Given the description of an element on the screen output the (x, y) to click on. 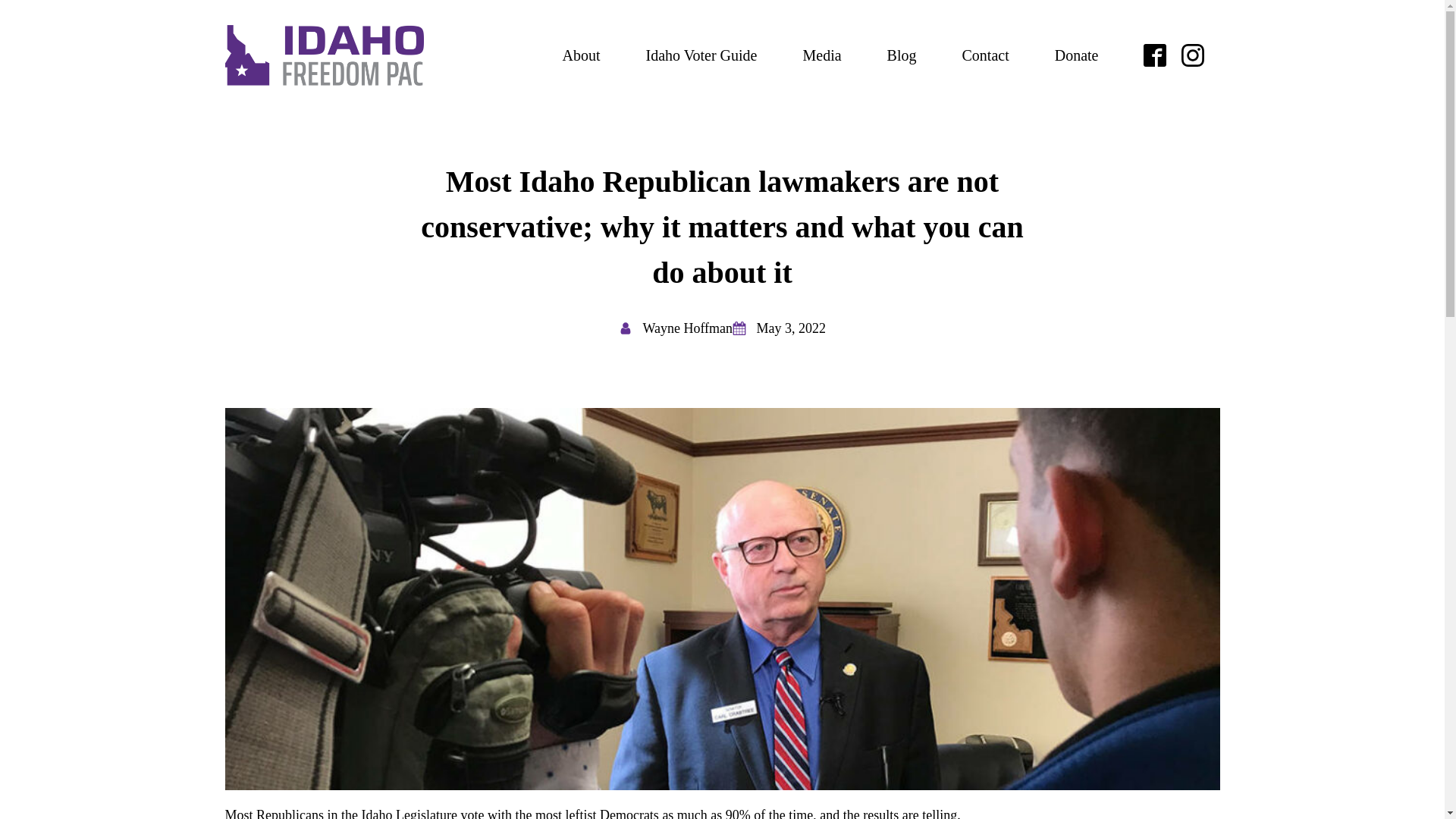
Idaho Voter Guide (701, 55)
Donate (1076, 55)
About (580, 55)
Blog (901, 55)
Contact (984, 55)
Media (821, 55)
